Given the description of an element on the screen output the (x, y) to click on. 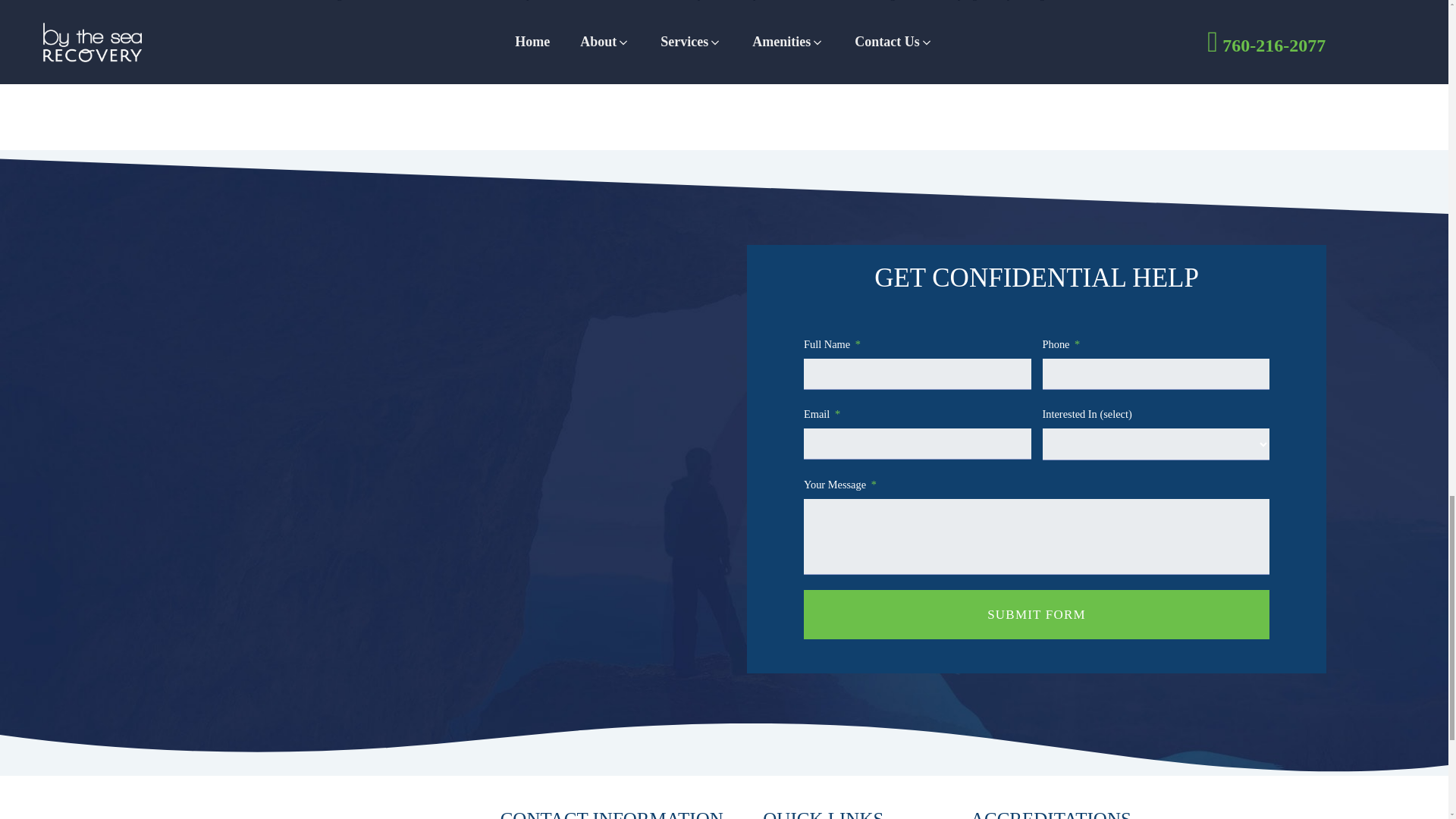
SUBMIT FORM (1036, 614)
